Given the description of an element on the screen output the (x, y) to click on. 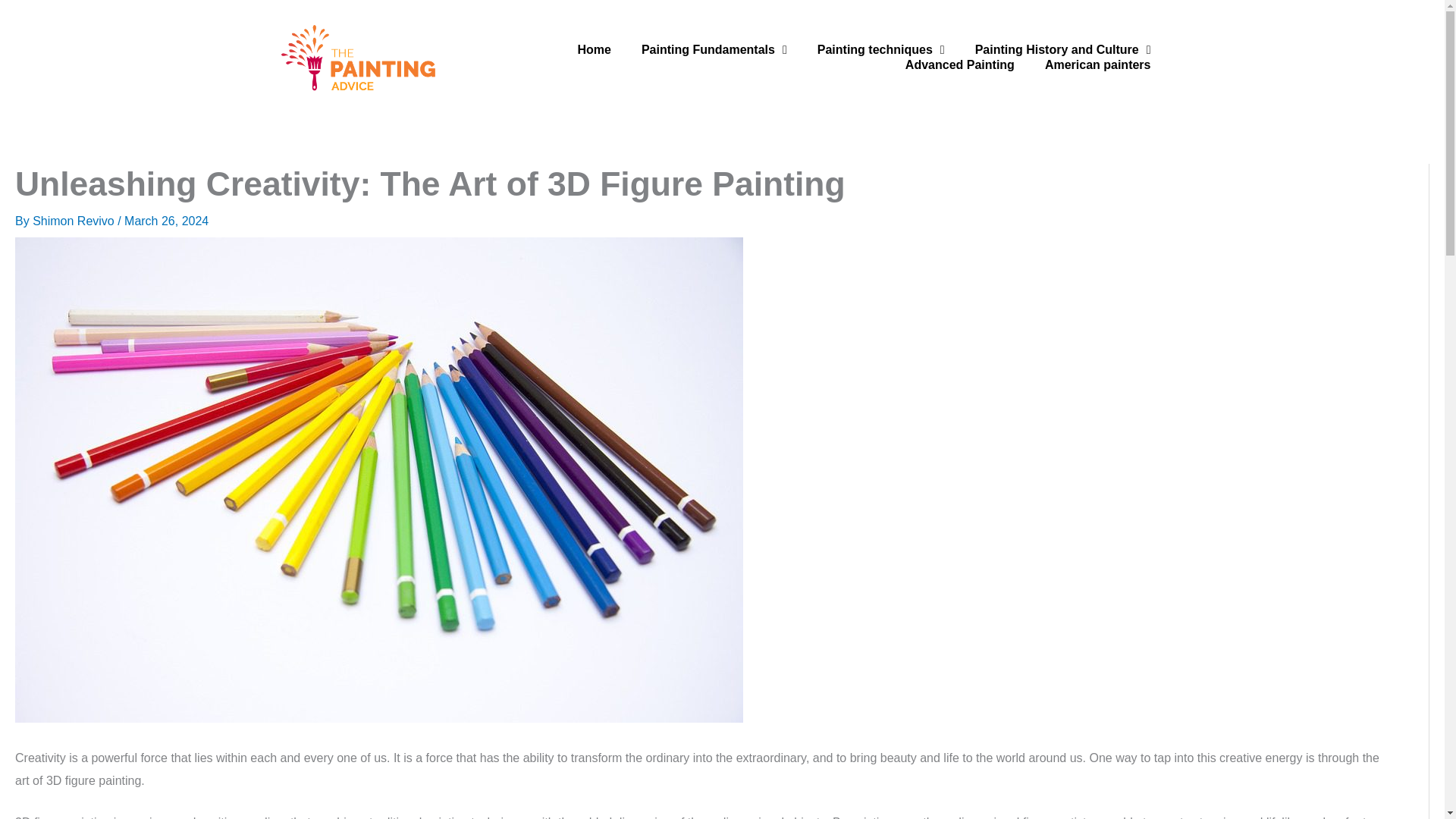
View all posts by Shimon Revivo (74, 220)
Painting History and Culture (1062, 49)
Advanced Painting (959, 64)
Shimon Revivo (74, 220)
Home (594, 49)
Painting techniques (880, 49)
Painting Fundamentals (714, 49)
American painters (1097, 64)
